Given the description of an element on the screen output the (x, y) to click on. 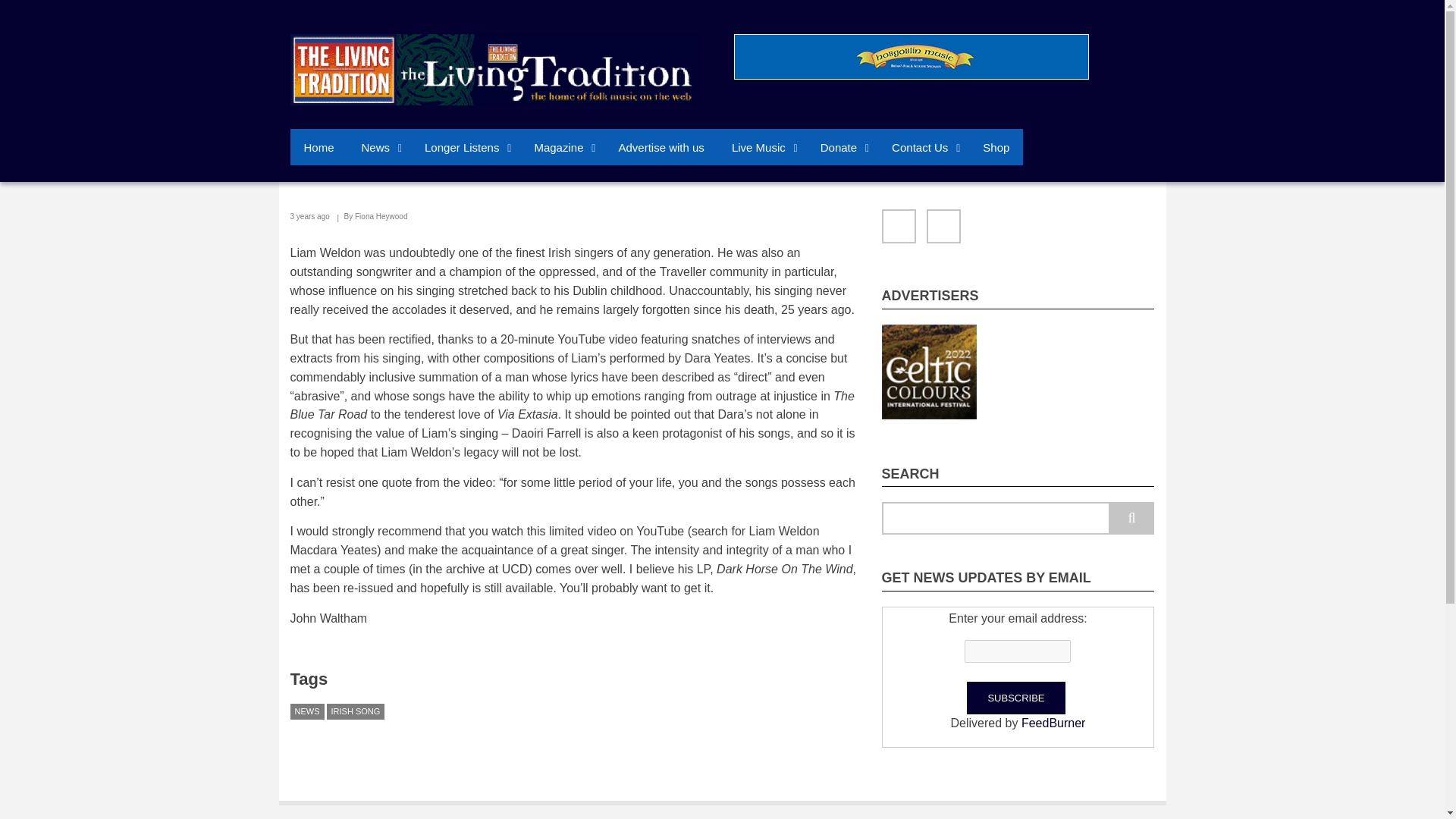
Live Music (761, 146)
Magazine (561, 146)
Home (318, 146)
Search (1131, 518)
News (379, 146)
Longer Listens (464, 146)
Magazine (561, 146)
Home (493, 68)
News (379, 146)
